Given the description of an element on the screen output the (x, y) to click on. 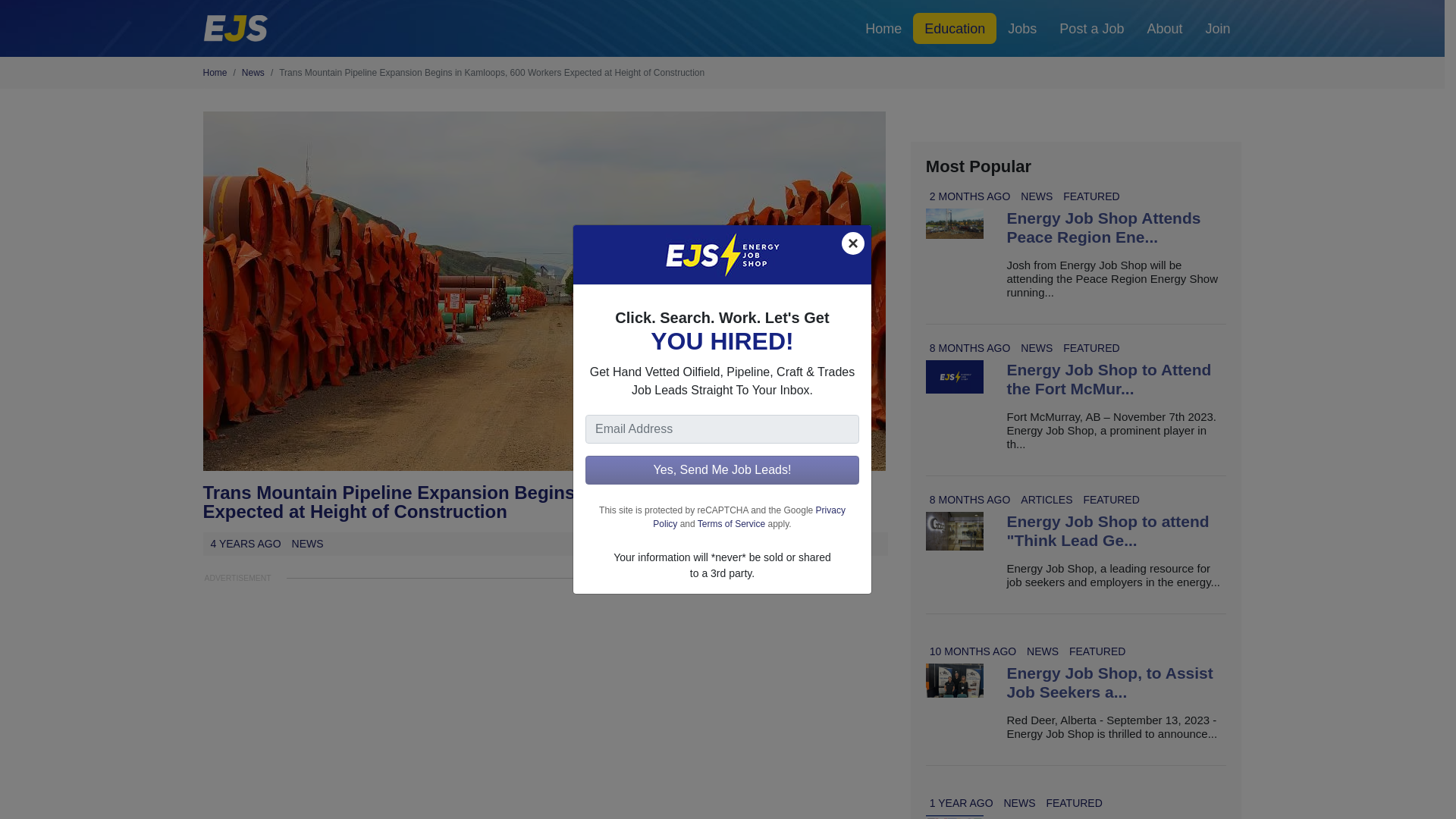
About (1164, 28)
Energy Job Shop to attend "Think Lead Ge... (1107, 530)
Education (953, 28)
NEWS (1036, 196)
Post a Job (1091, 28)
Jobs (1021, 28)
NEWS (1036, 347)
Energy Job Shop to Attend the Fort McMur... (1108, 379)
Energy Job Shop, to Assist Job Seekers a... (1109, 682)
Join (1217, 28)
Home (215, 72)
NEWS (1019, 802)
Home (882, 28)
News (252, 72)
